Given the description of an element on the screen output the (x, y) to click on. 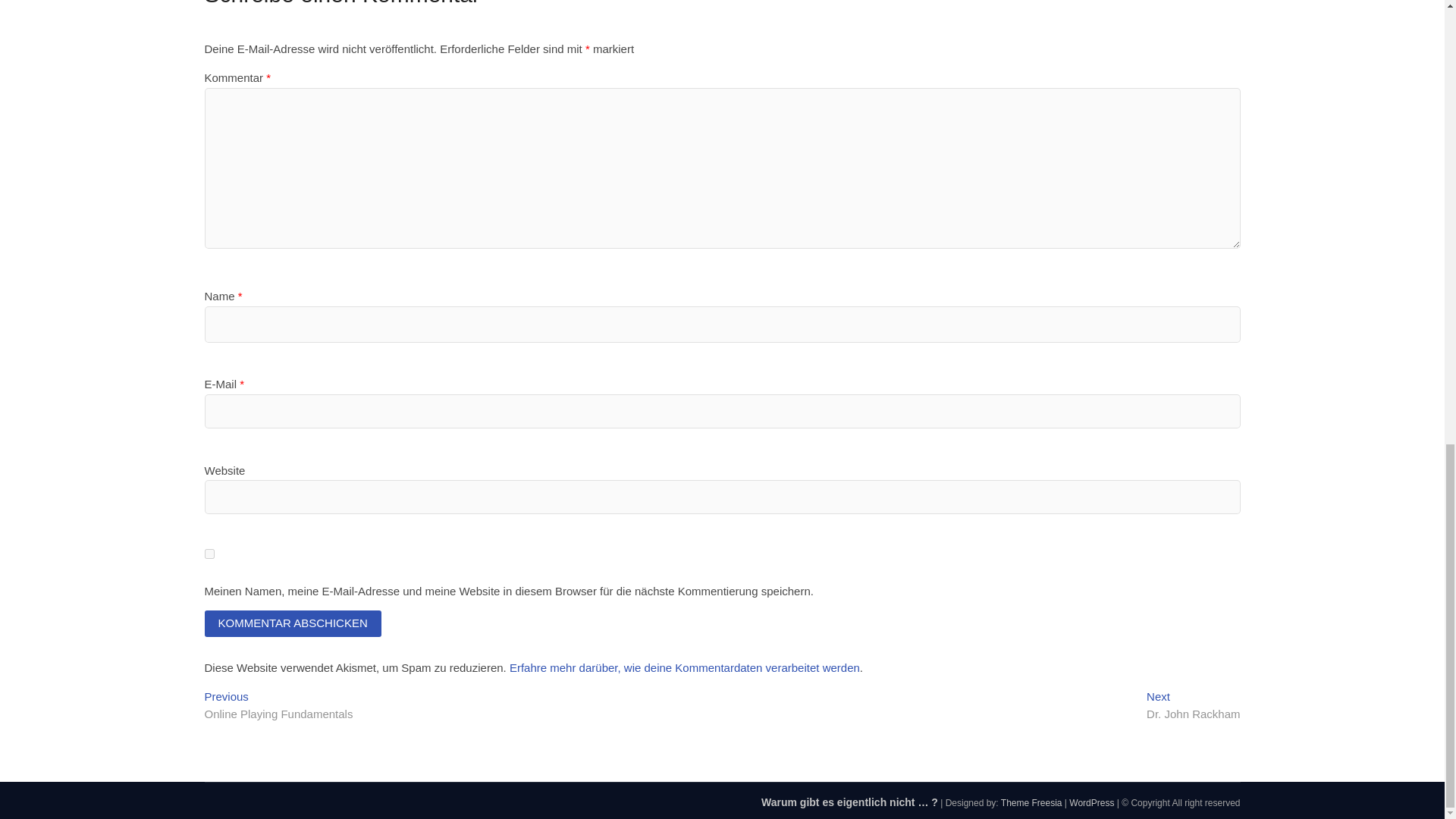
Kommentar abschicken (1193, 706)
WordPress (293, 623)
Theme Freesia (1090, 802)
Kommentar abschicken (1031, 802)
WordPress (293, 623)
Theme Freesia (1090, 802)
yes (1031, 802)
